Given the description of an element on the screen output the (x, y) to click on. 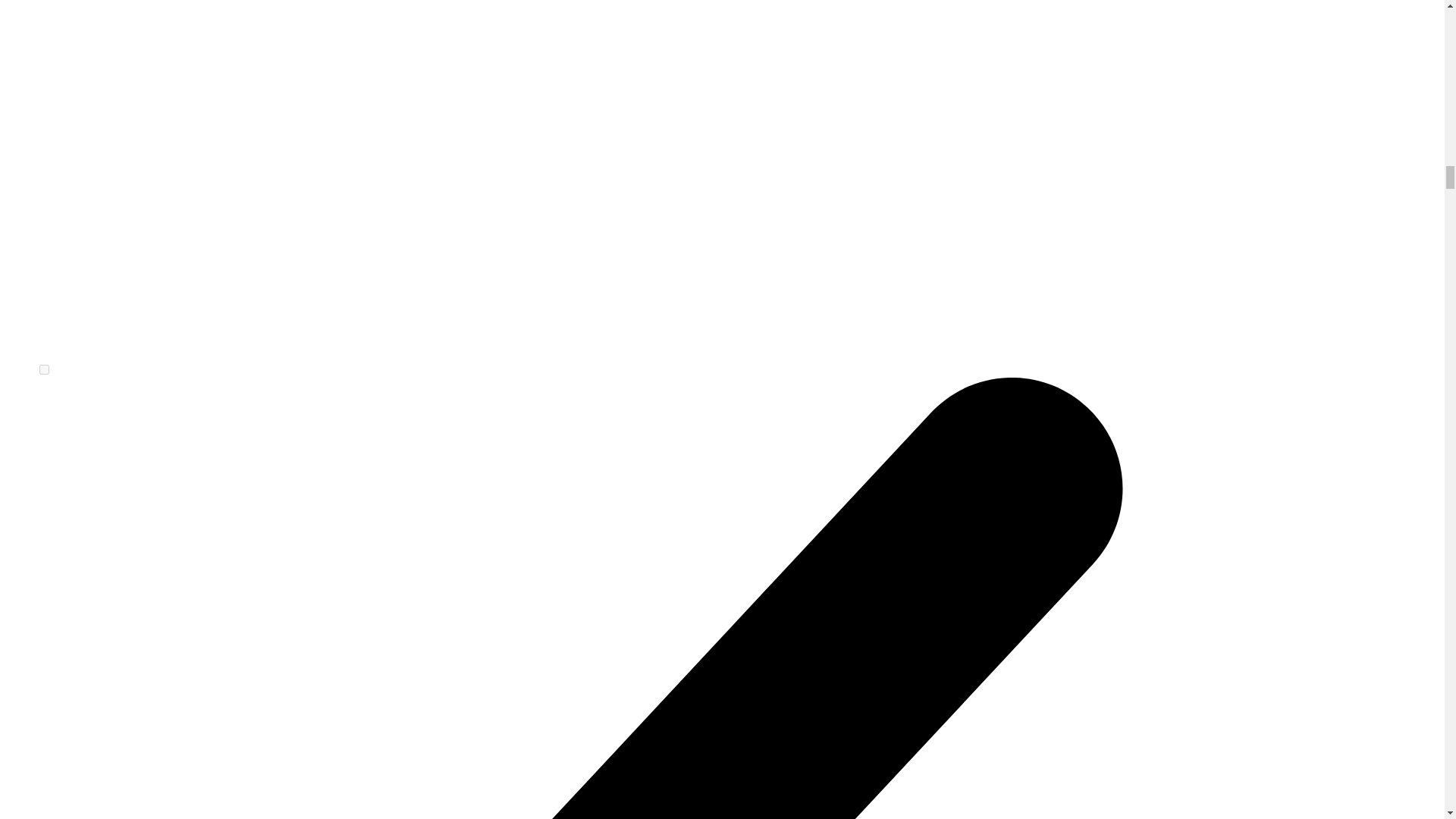
on (44, 369)
